Given the description of an element on the screen output the (x, y) to click on. 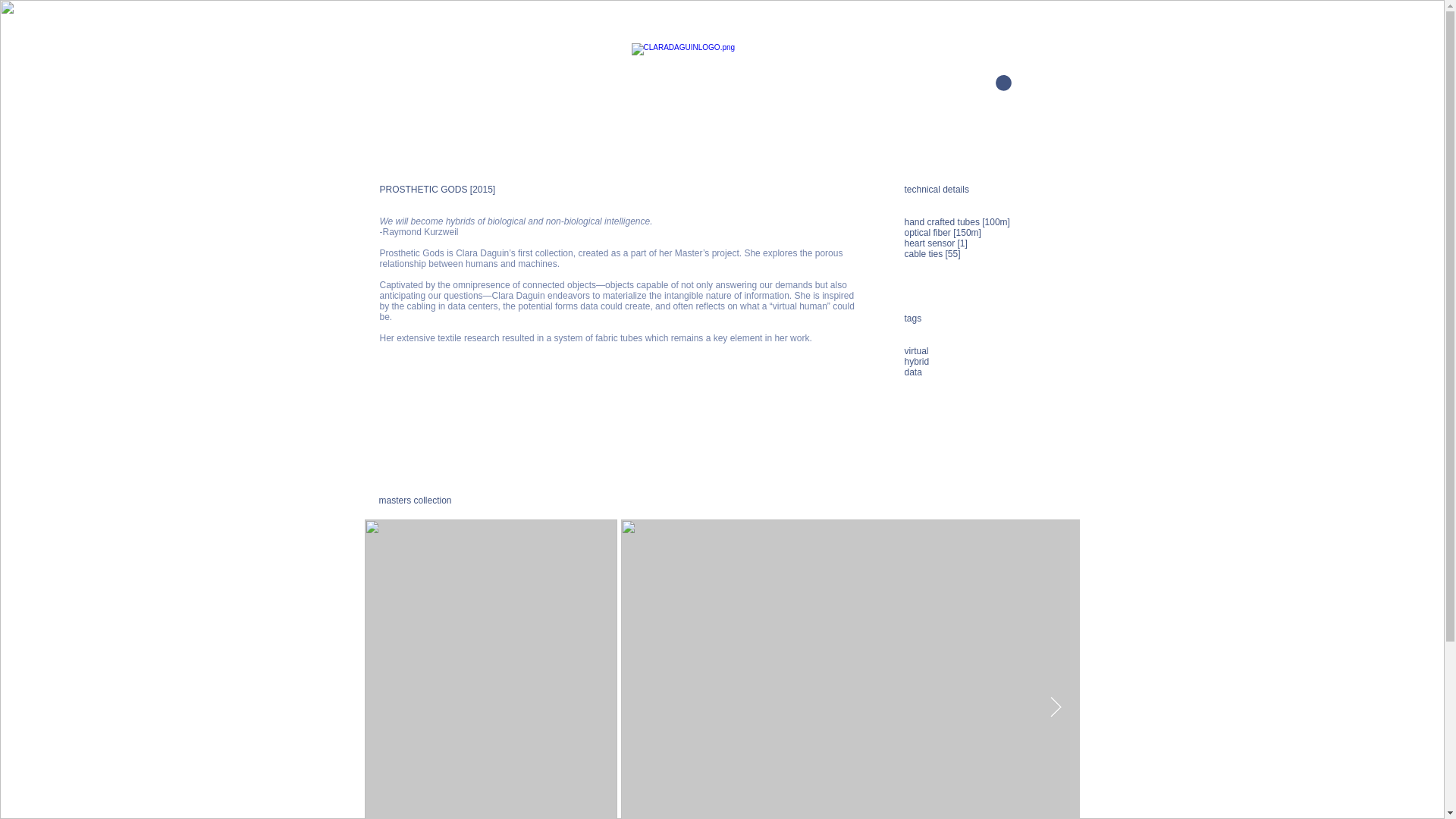
S H O P (971, 83)
CLARADAGUINLOGO.png (720, 70)
M E N U (1048, 84)
